Given the description of an element on the screen output the (x, y) to click on. 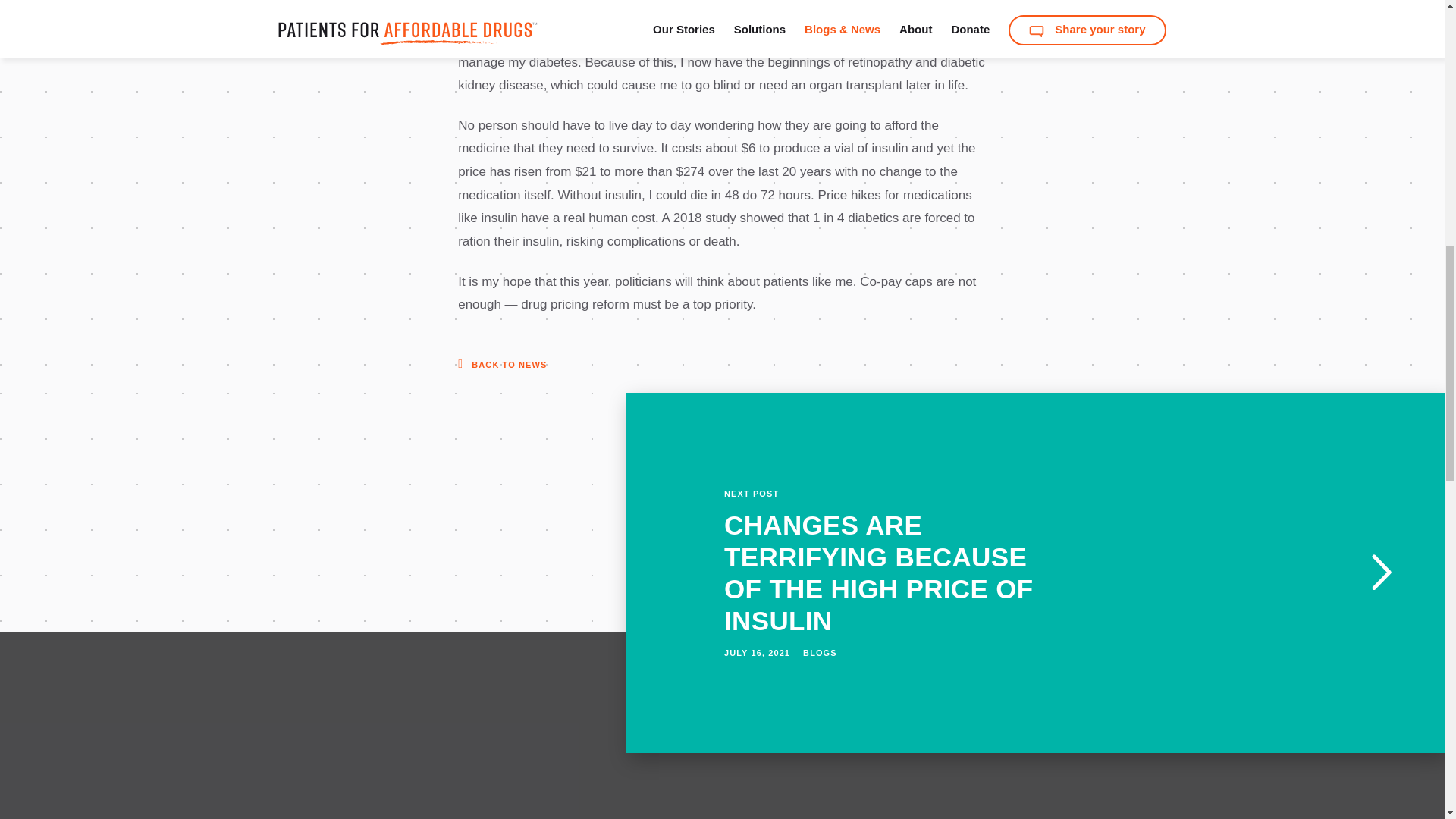
BLOGS (820, 652)
BACK TO NEWS (502, 364)
